Given the description of an element on the screen output the (x, y) to click on. 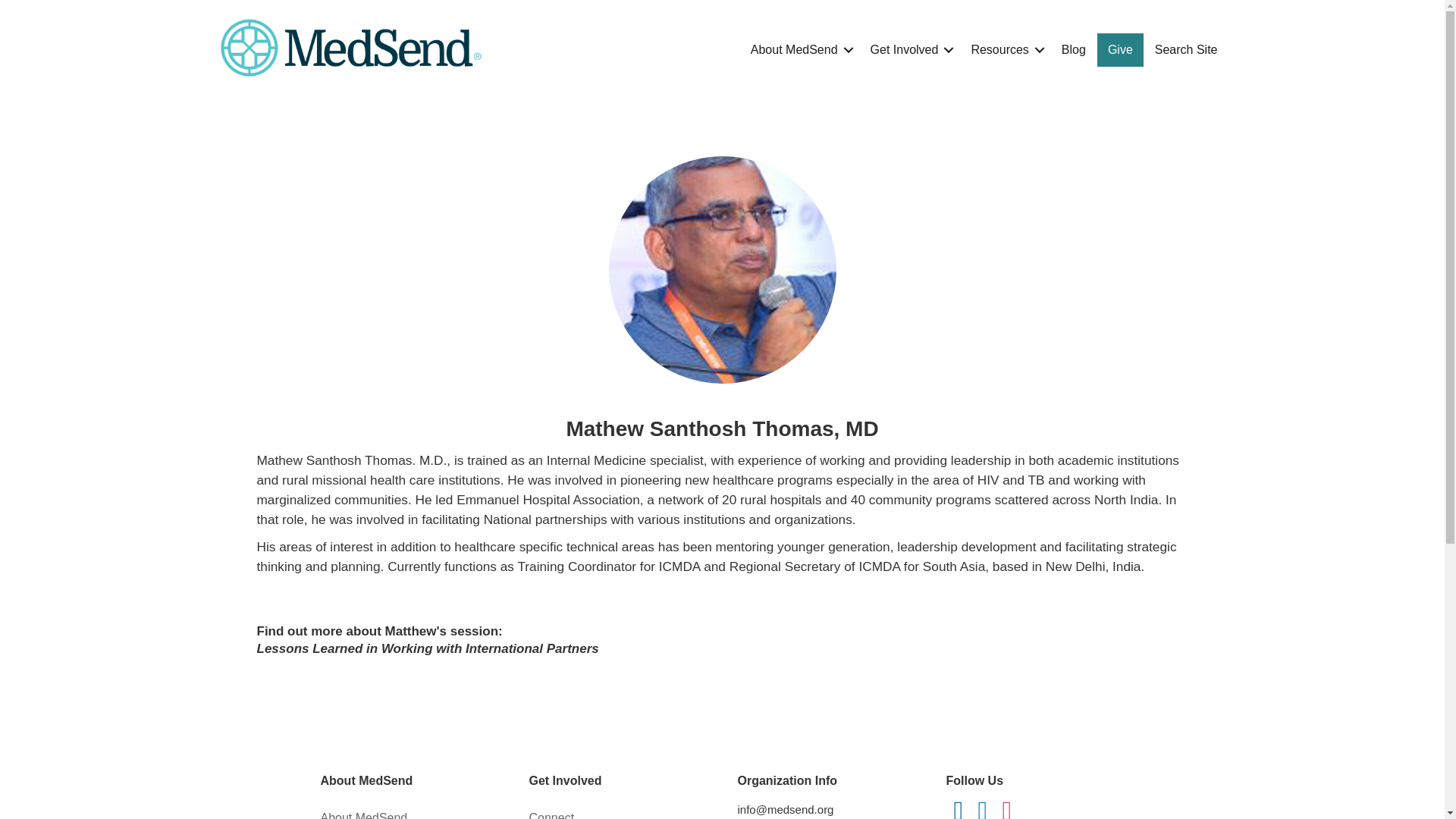
Blog (1073, 49)
Give (1119, 49)
Search Site (1186, 49)
Get Involved with MedSend (909, 49)
About MedSend (799, 49)
Resources to Help with MedSend (1004, 49)
About MedSend (408, 810)
Resources (1004, 49)
Latest Stories from MedSend (1073, 49)
